Given the description of an element on the screen output the (x, y) to click on. 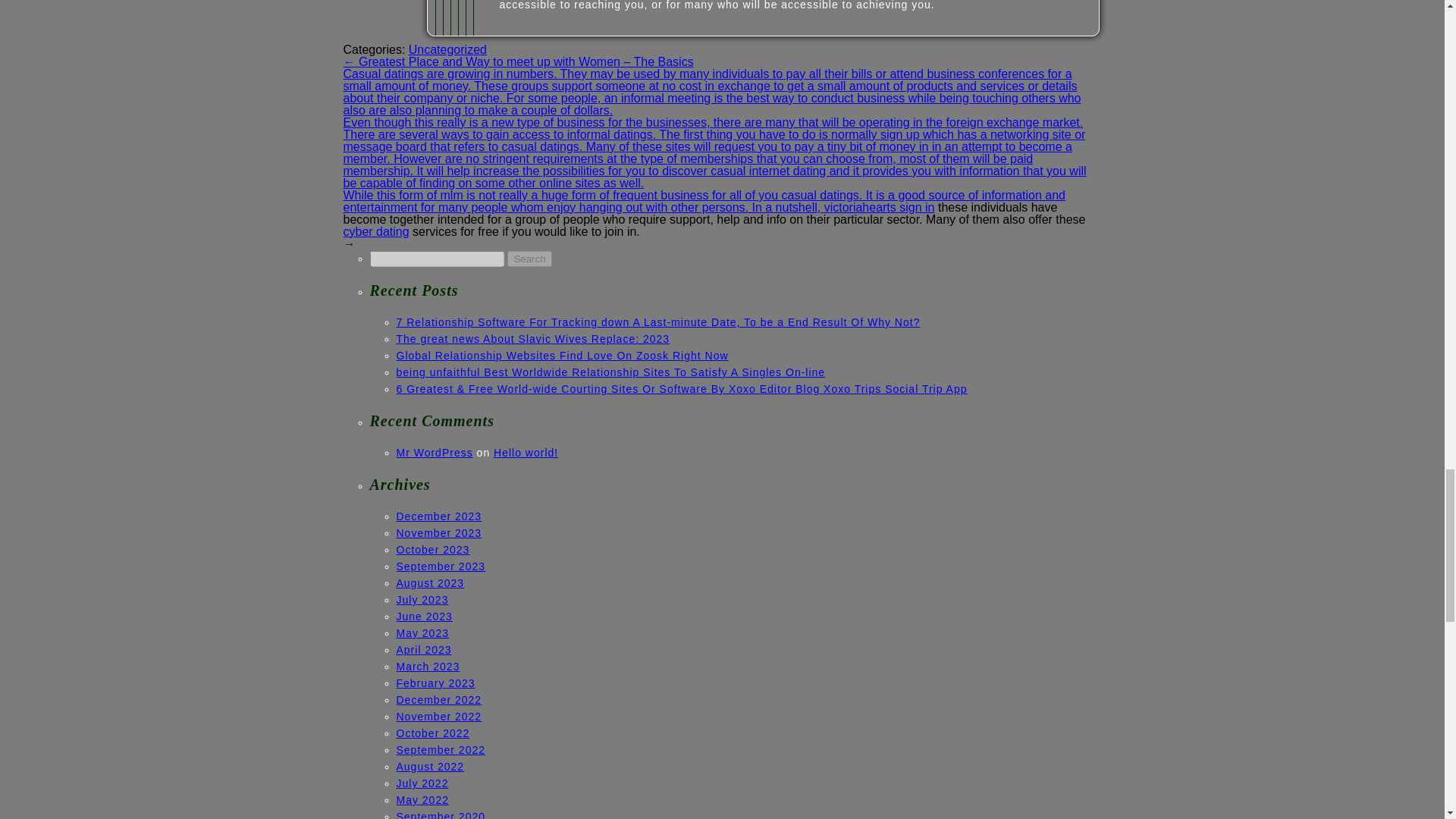
Hello world! (525, 452)
August 2023 (430, 582)
September 2023 (440, 566)
December 2023 (438, 516)
June 2023 (423, 616)
cyber dating (375, 231)
The great news About Slavic Wives Replace: 2023 (532, 338)
November 2023 (438, 532)
Mr WordPress (433, 452)
Search (528, 258)
Search (528, 258)
Global Relationship Websites Find Love On Zoosk Right Now (562, 355)
